Given the description of an element on the screen output the (x, y) to click on. 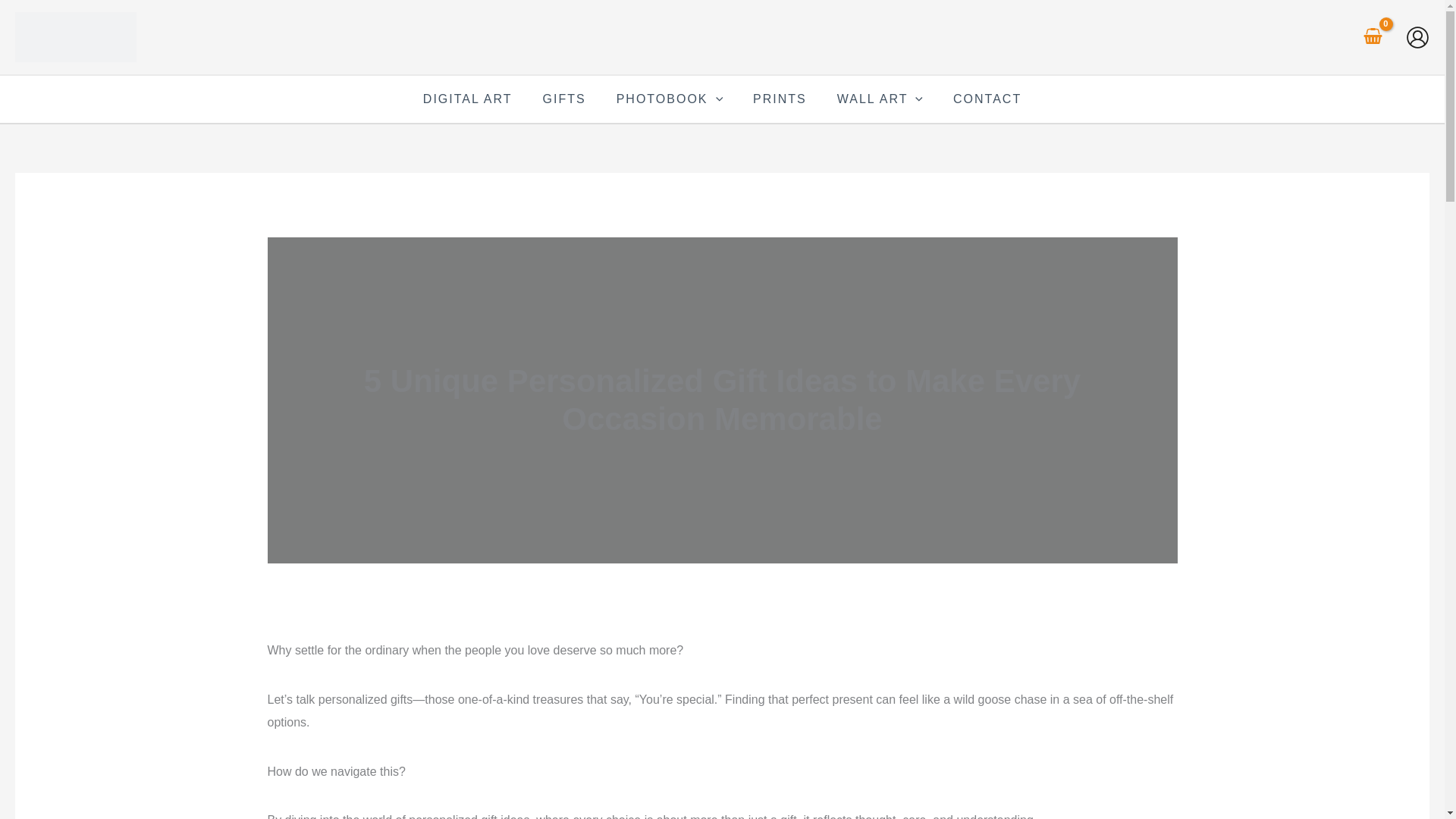
DIGITAL ART (467, 98)
PRINTS (780, 98)
GIFTS (564, 98)
CONTACT (986, 98)
PHOTOBOOK (669, 98)
WALL ART (879, 98)
